Given the description of an element on the screen output the (x, y) to click on. 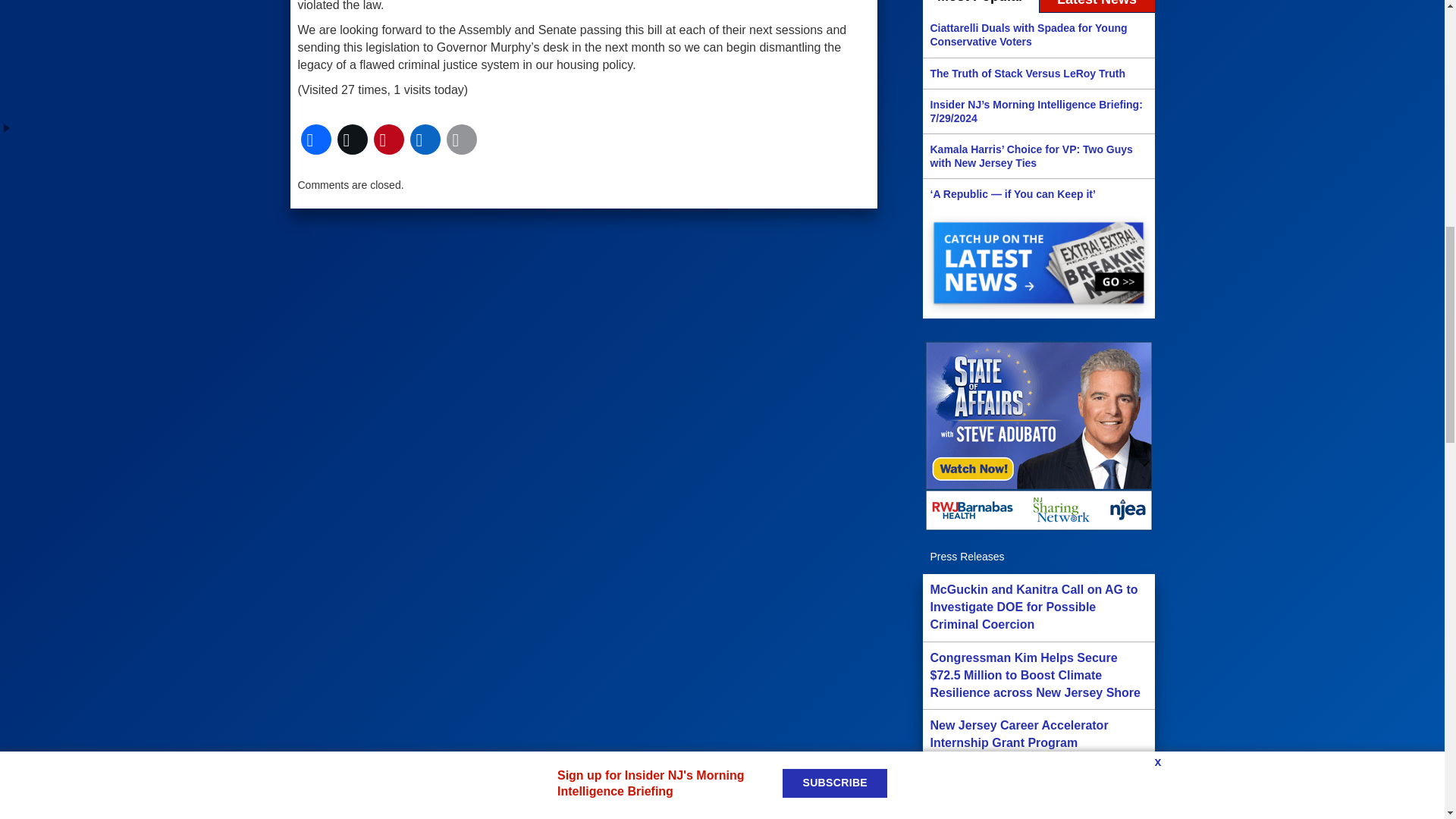
The Truth of Stack Versus LeRoy Truth (1037, 72)
Latest News (1096, 6)
Most Popular (979, 6)
Ciattarelli Duals with Spadea for Young Conservative Voters (1037, 34)
